Given the description of an element on the screen output the (x, y) to click on. 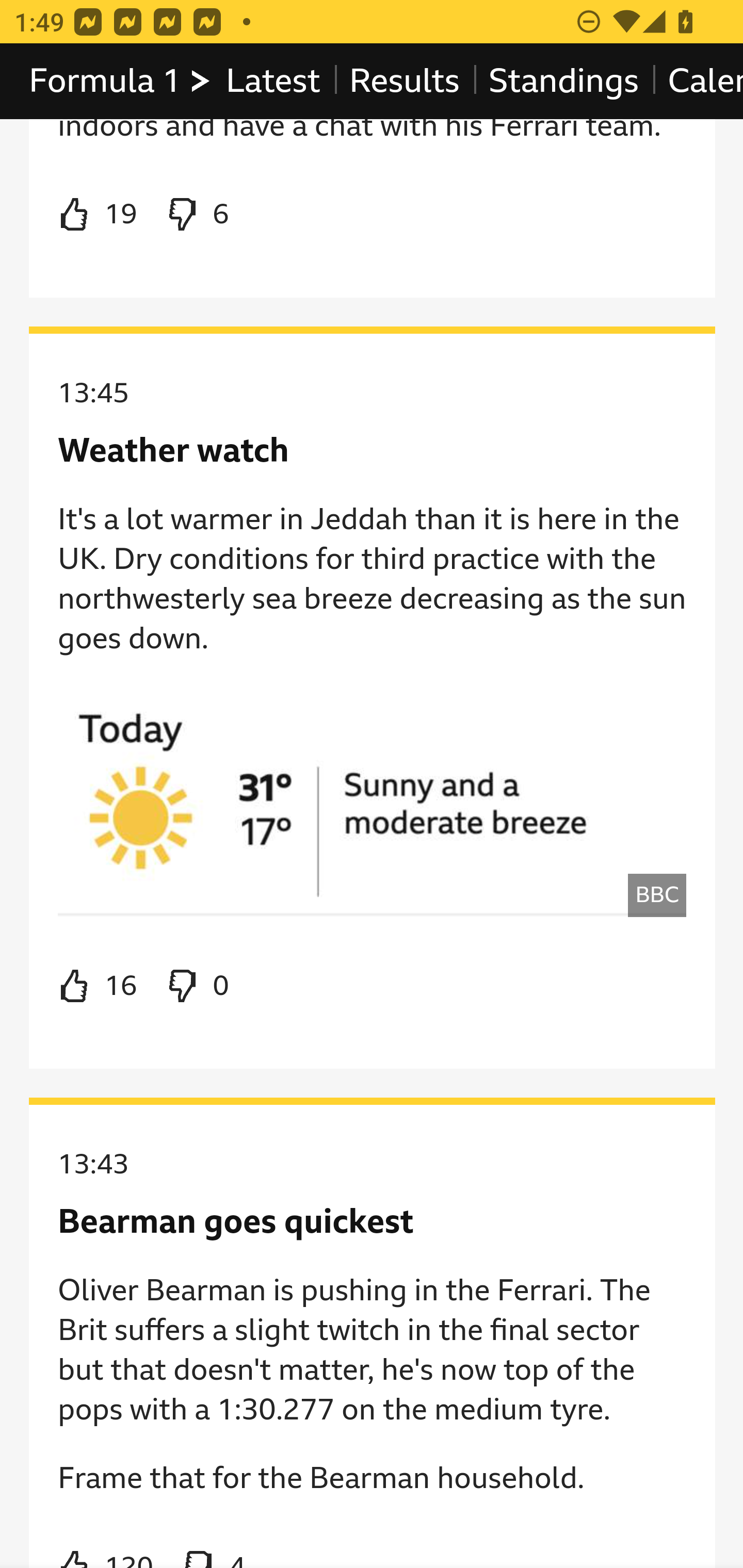
Like (97, 214)
Dislike (196, 214)
Like (97, 986)
Dislike (196, 986)
